Given the description of an element on the screen output the (x, y) to click on. 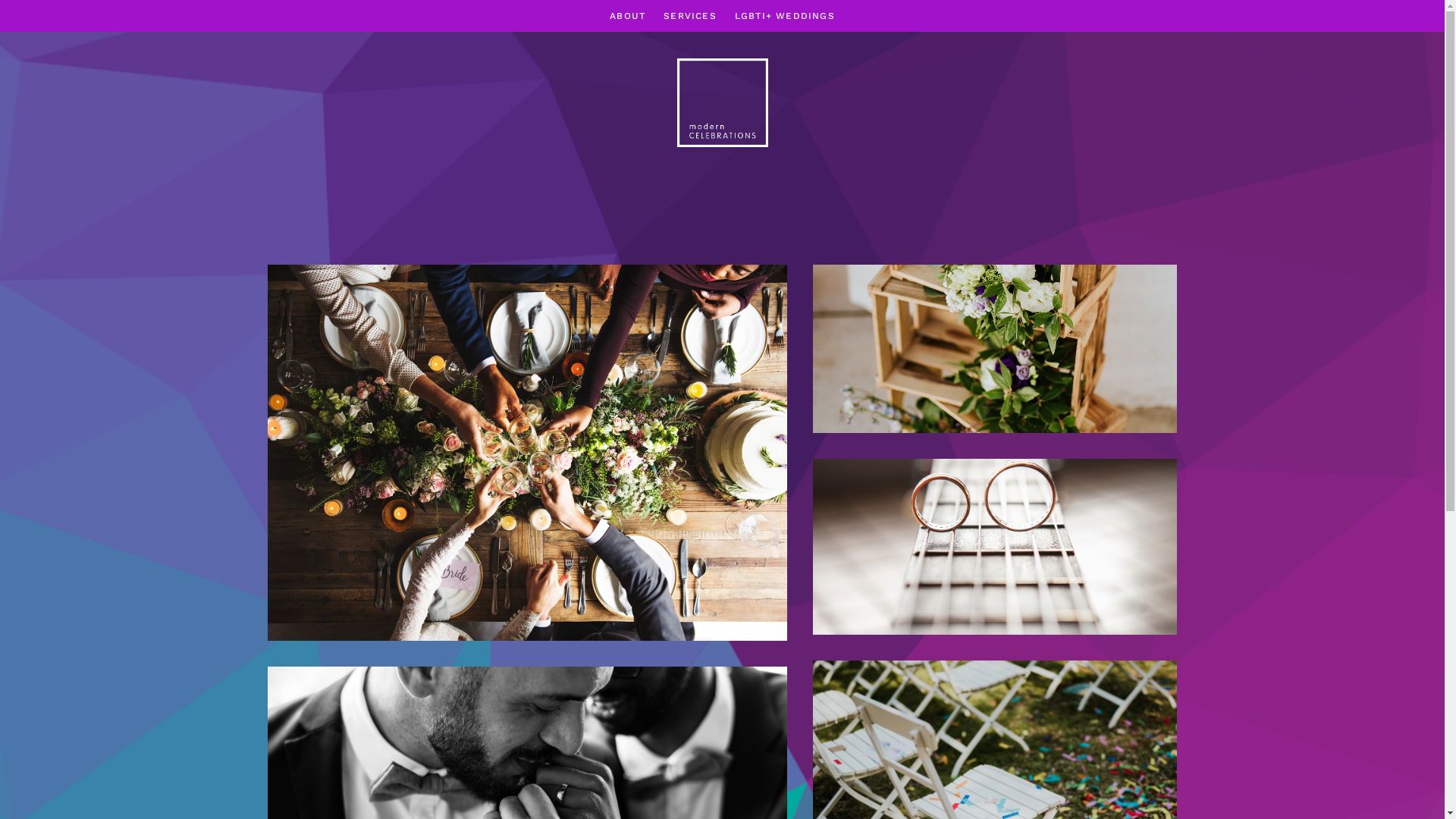
LGBTI+ WEDDINGS Element type: text (784, 16)
ABOUT Element type: text (627, 16)
SERVICES Element type: text (689, 16)
